Given the description of an element on the screen output the (x, y) to click on. 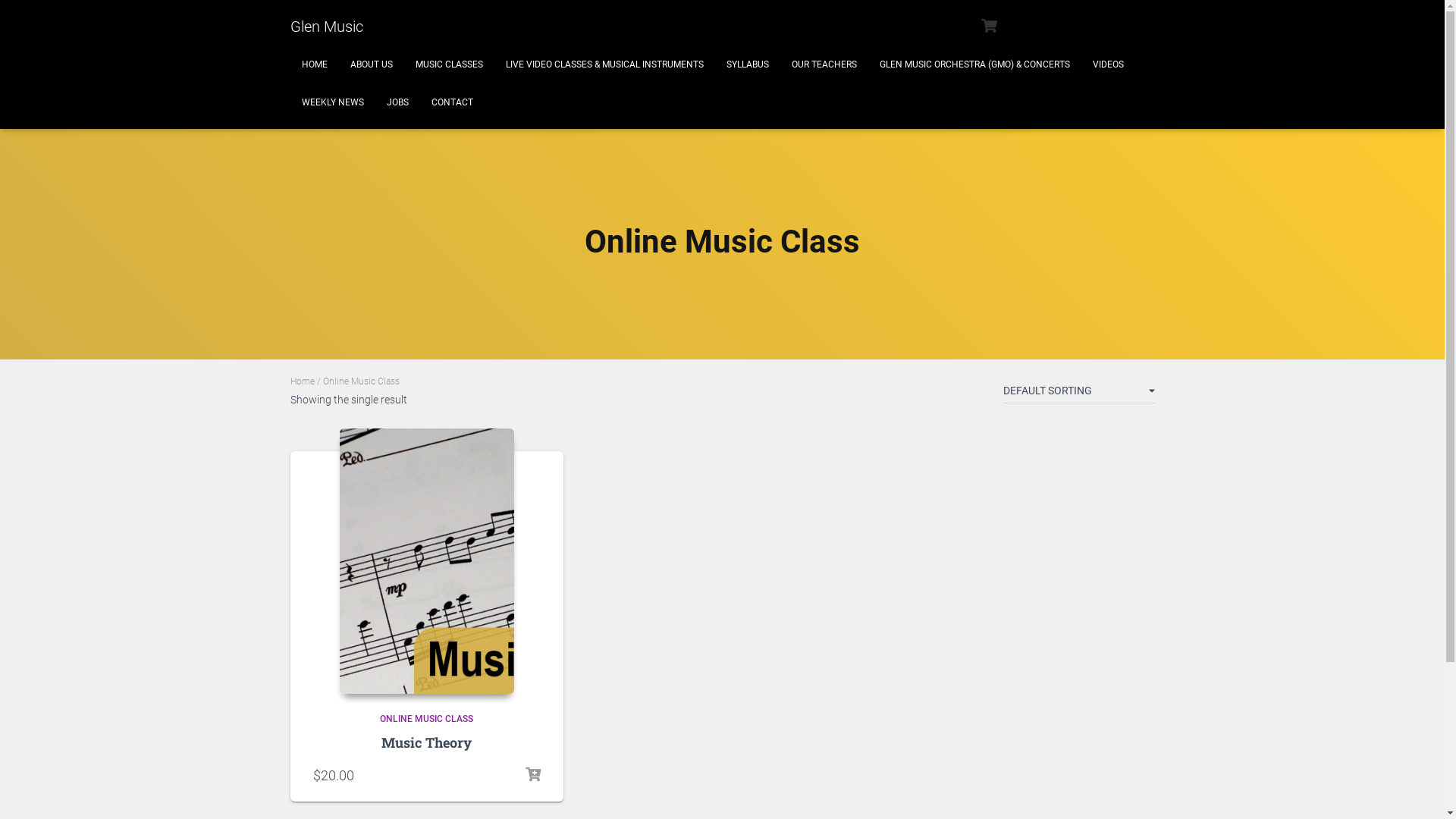
HOME Element type: text (313, 64)
Add to cart Element type: hover (531, 774)
Glen Music Element type: text (326, 26)
Music Theory Element type: hover (426, 560)
JOBS Element type: text (396, 102)
CONTACT Element type: text (452, 102)
MUSIC CLASSES Element type: text (448, 64)
Music Theory Element type: text (426, 742)
VIDEOS Element type: text (1108, 64)
OUR TEACHERS Element type: text (823, 64)
SYLLABUS Element type: text (746, 64)
WEEKLY NEWS Element type: text (331, 102)
ABOUT US Element type: text (370, 64)
LIVE VIDEO CLASSES & MUSICAL INSTRUMENTS Element type: text (604, 64)
Home Element type: text (301, 381)
ONLINE MUSIC CLASS Element type: text (426, 718)
GLEN MUSIC ORCHESTRA (GMO) & CONCERTS Element type: text (973, 64)
